Given the description of an element on the screen output the (x, y) to click on. 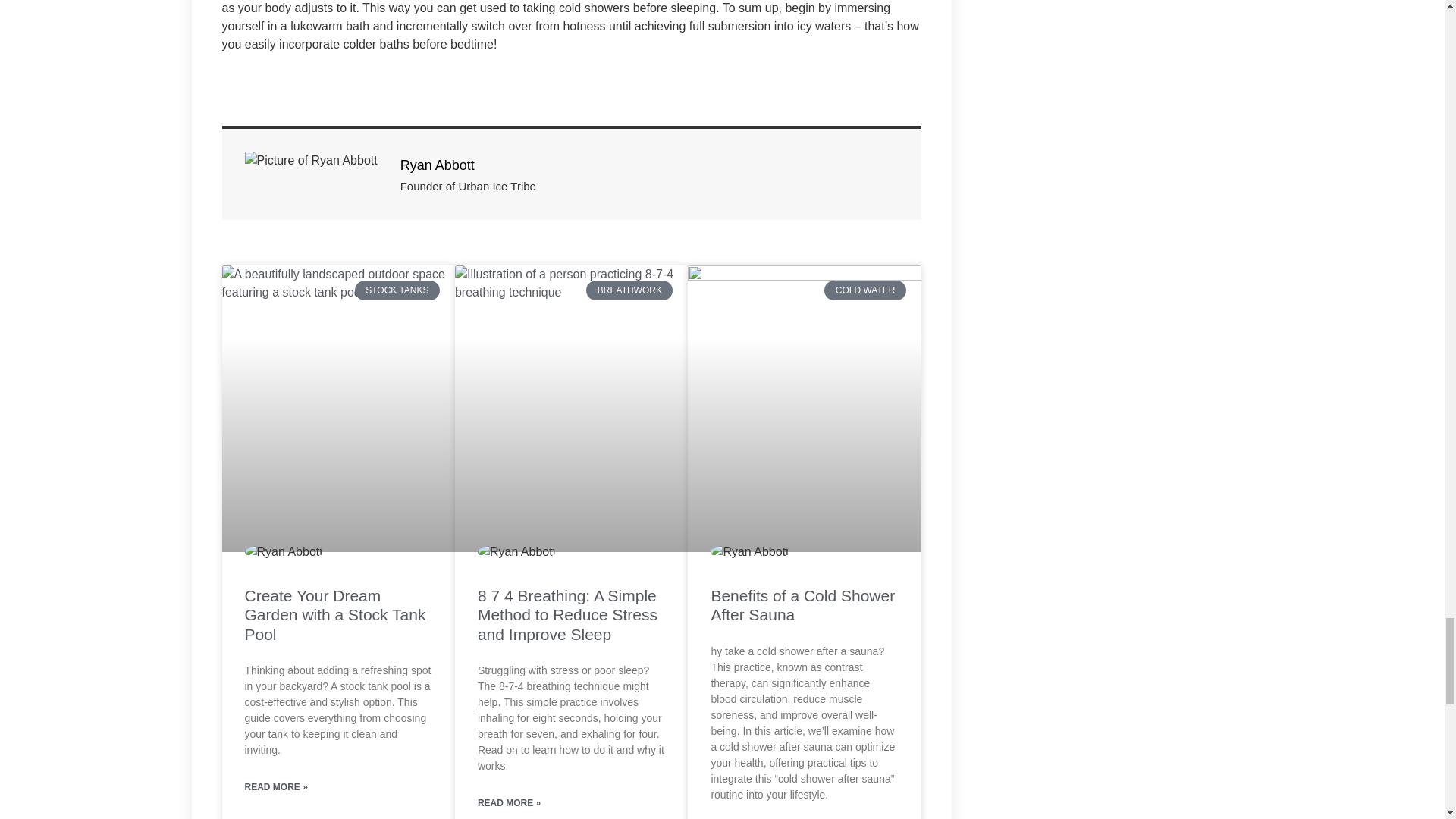
Create Your Dream Garden with a Stock Tank Pool (334, 614)
Benefits of a Cold Shower After Sauna (802, 605)
